Given the description of an element on the screen output the (x, y) to click on. 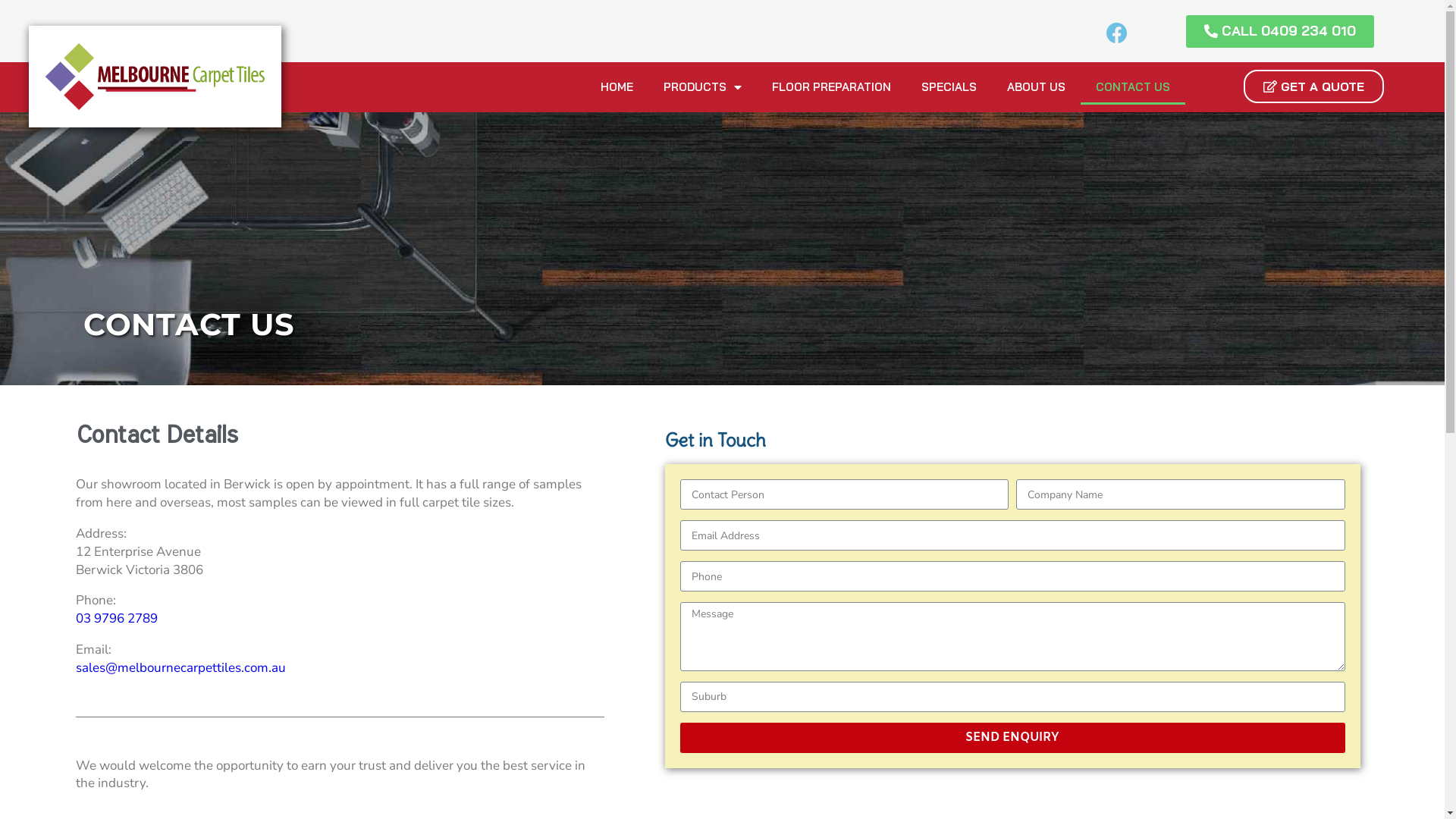
CALL 0409 234 010 Element type: text (1280, 31)
sales@melbournecarpettiles.com.au Element type: text (180, 667)
FLOOR PREPARATION Element type: text (831, 86)
GET A QUOTE Element type: text (1313, 86)
PRODUCTS Element type: text (702, 86)
SPECIALS Element type: text (948, 86)
CONTACT US Element type: text (1132, 86)
SEND ENQUIRY Element type: text (1012, 737)
03 9796 2789 Element type: text (116, 618)
ABOUT US Element type: text (1035, 86)
HOME Element type: text (616, 86)
